Given the description of an element on the screen output the (x, y) to click on. 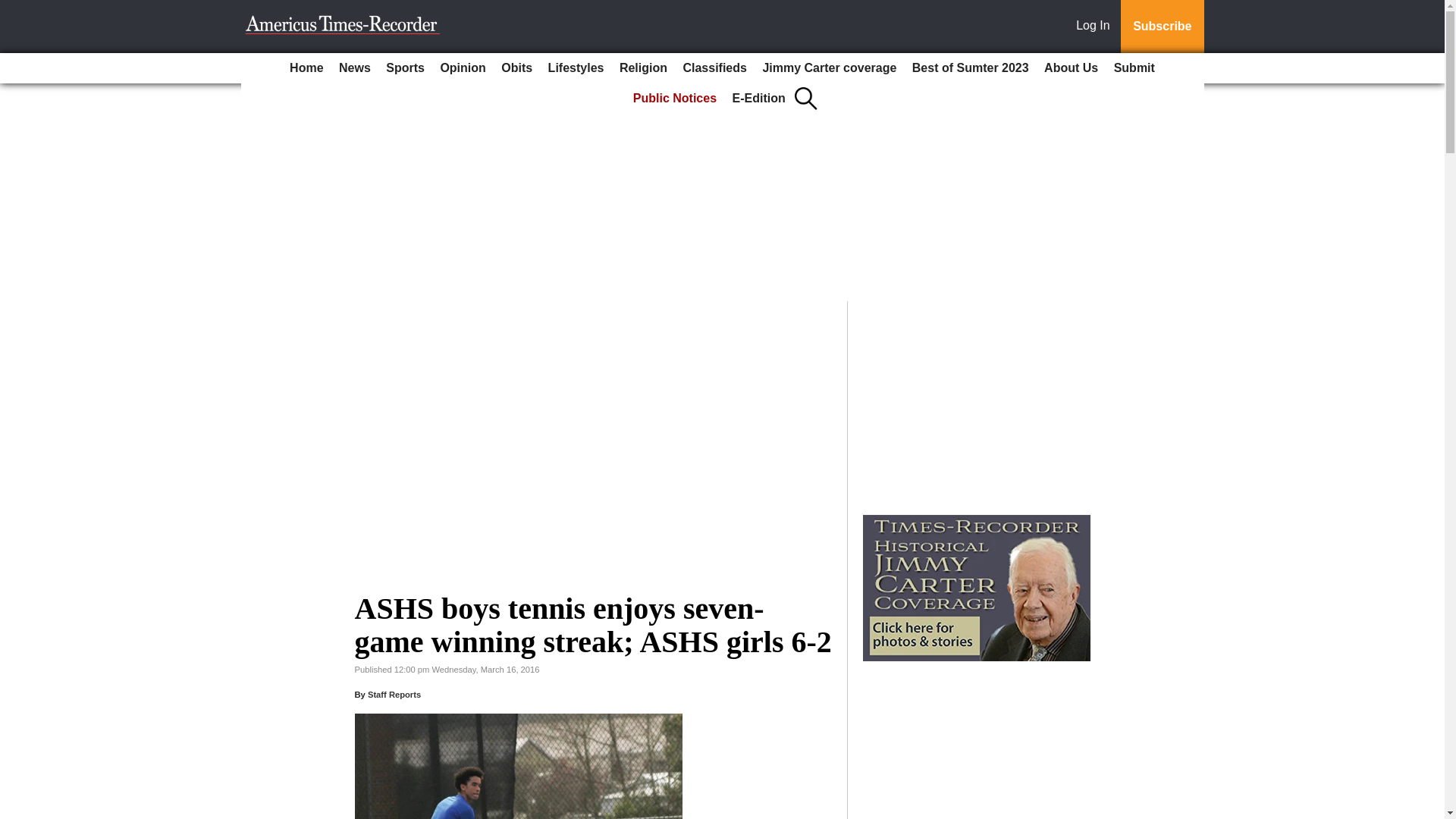
Staff Reports (394, 694)
Subscribe (1162, 26)
Jimmy Carter coverage (828, 68)
Home (306, 68)
Sports (405, 68)
Best of Sumter 2023 (970, 68)
Religion (642, 68)
Go (13, 9)
Submit (1134, 68)
E-Edition (759, 98)
About Us (1070, 68)
Public Notices (674, 98)
Lifestyles (575, 68)
Log In (1095, 26)
Classifieds (714, 68)
